Given the description of an element on the screen output the (x, y) to click on. 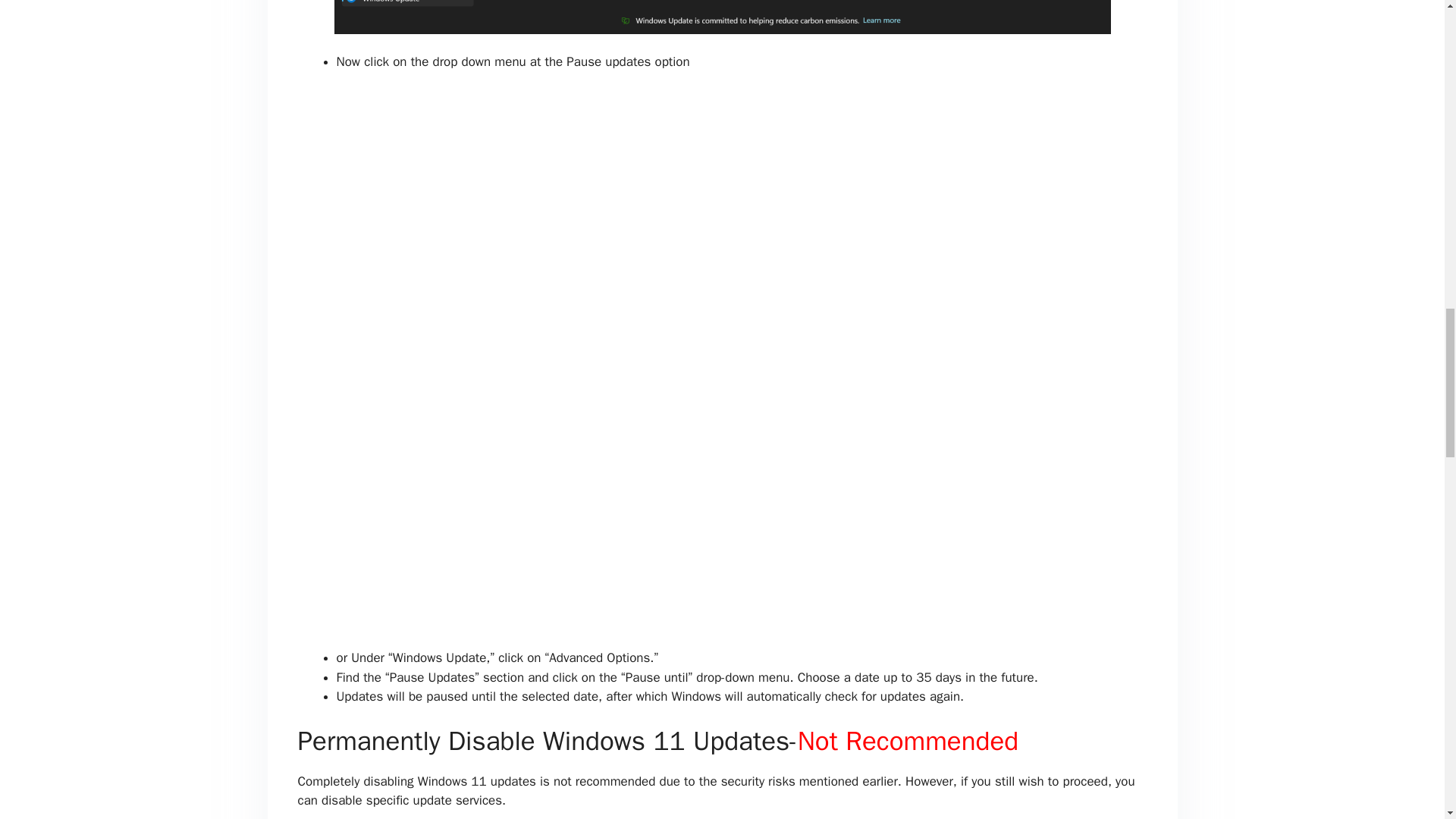
How to Disable Windows 11 Updates: Best Tips 1 (721, 17)
